Given the description of an element on the screen output the (x, y) to click on. 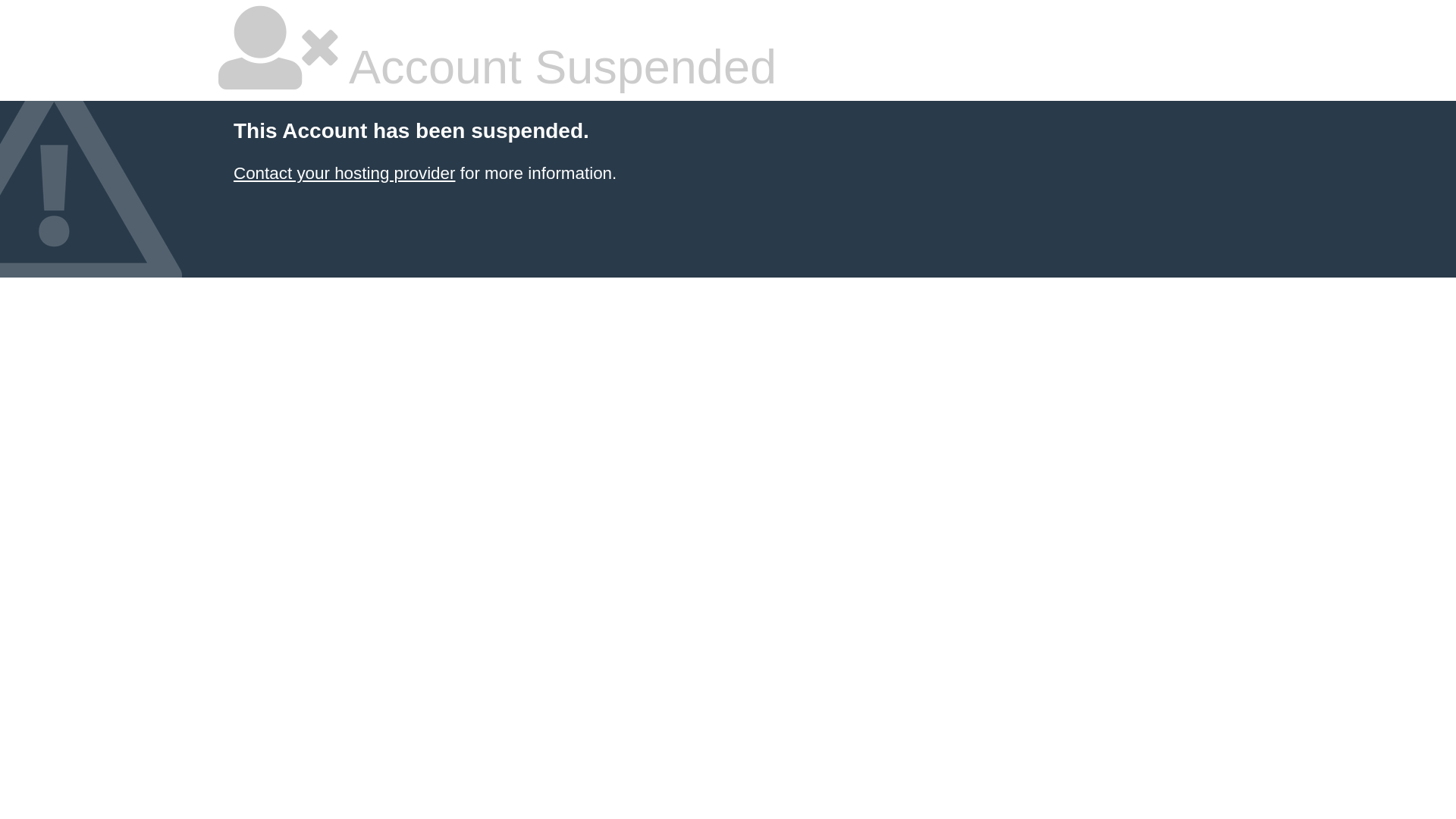
Contact your hosting provider Element type: text (344, 172)
